Given the description of an element on the screen output the (x, y) to click on. 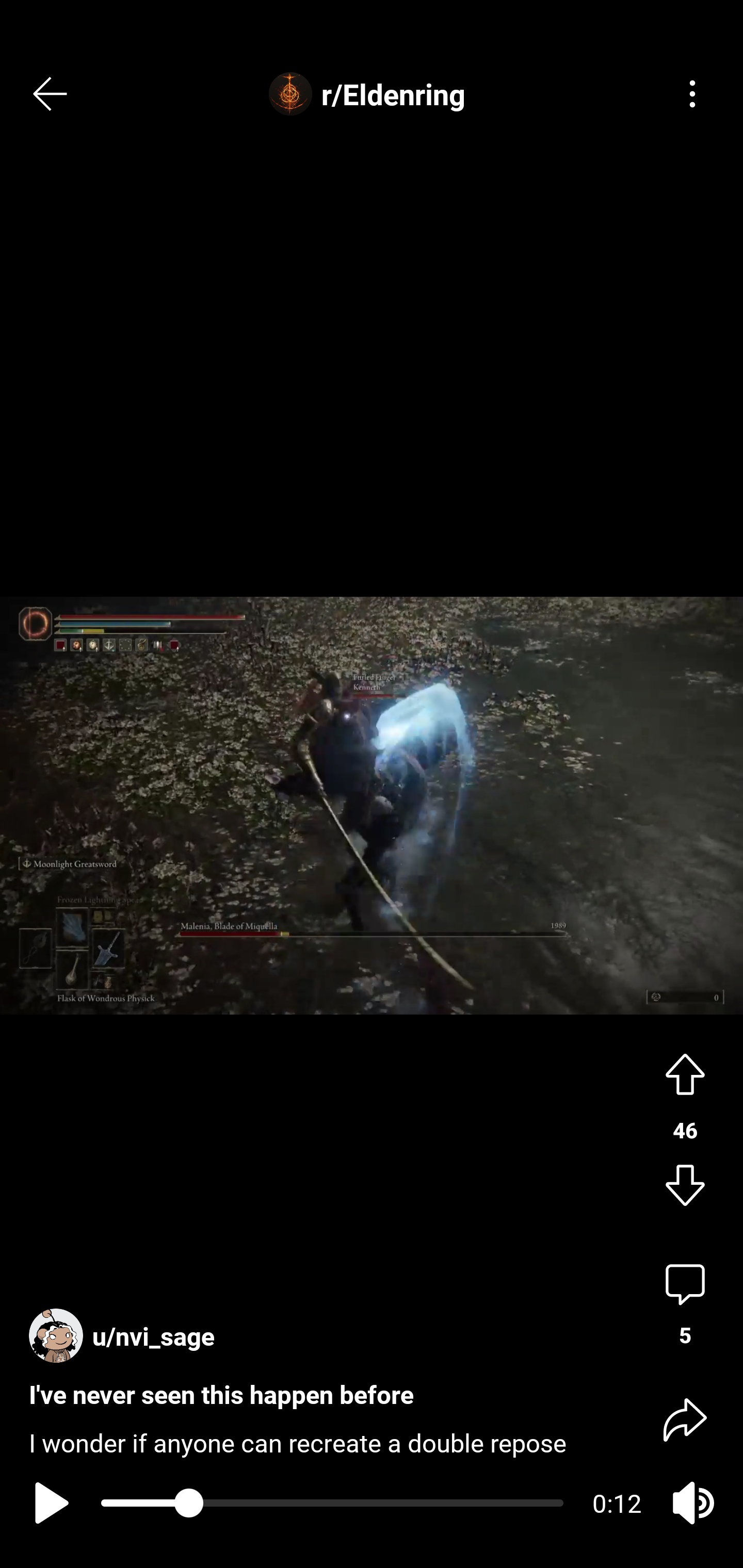
Back (50, 93)
r slash Eldenring (371, 93)
More options (692, 93)
Upvote this post (684, 1071)
Downvote this post (684, 1187)
5 comments (684, 1305)
nvi_sage, post creator (125, 1327)
Share this post (684, 1417)
Play (46, 1502)
Mute (692, 1502)
